Given the description of an element on the screen output the (x, y) to click on. 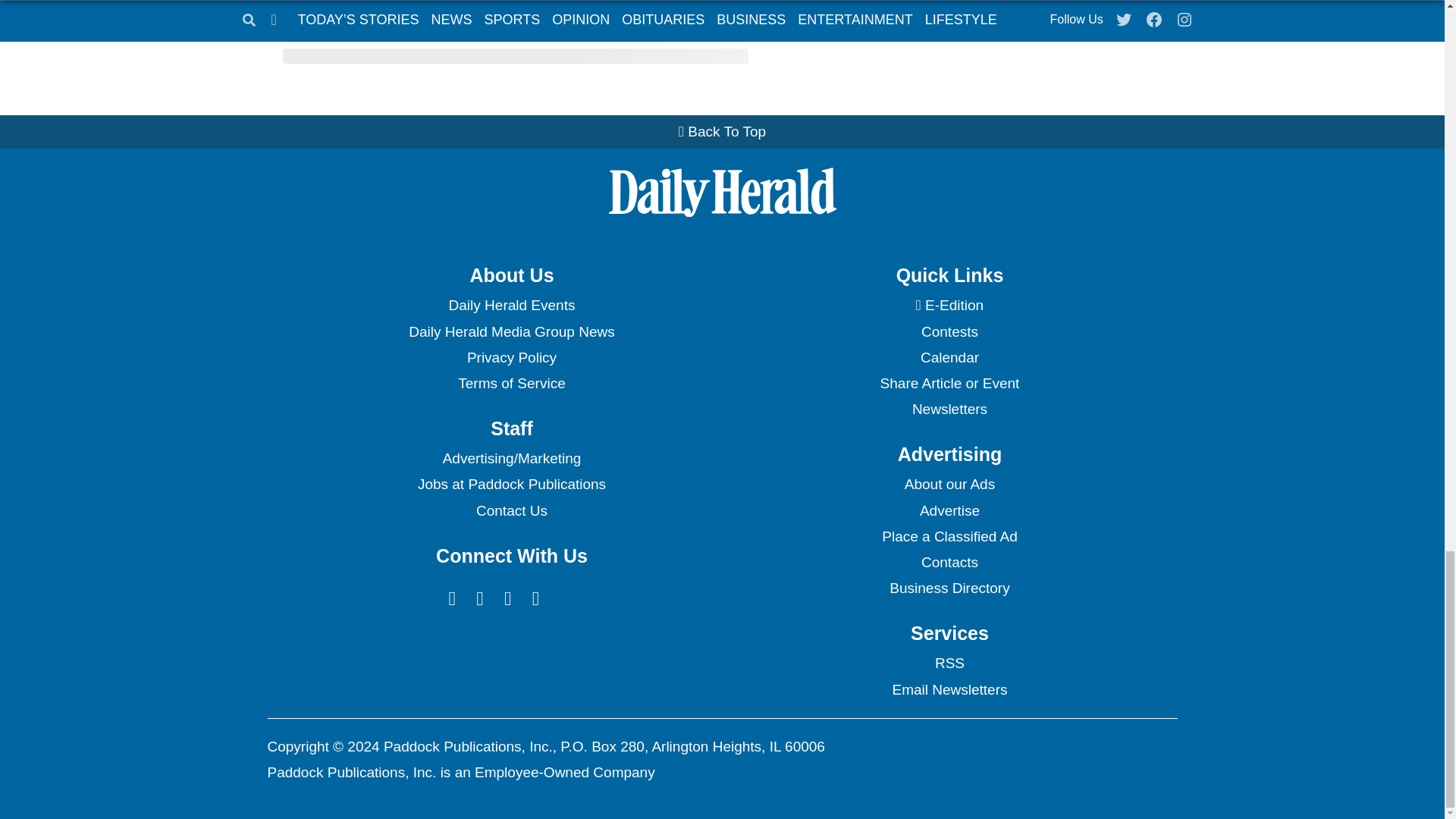
Daily Herald Media Group News (511, 331)
Daily Herald Events (511, 305)
Contact Us (511, 510)
Privacy Policy (511, 357)
Daily Herald Digital Newspaper (949, 305)
Jobs at Paddock Publications (511, 484)
Terms of Service (511, 383)
